Given the description of an element on the screen output the (x, y) to click on. 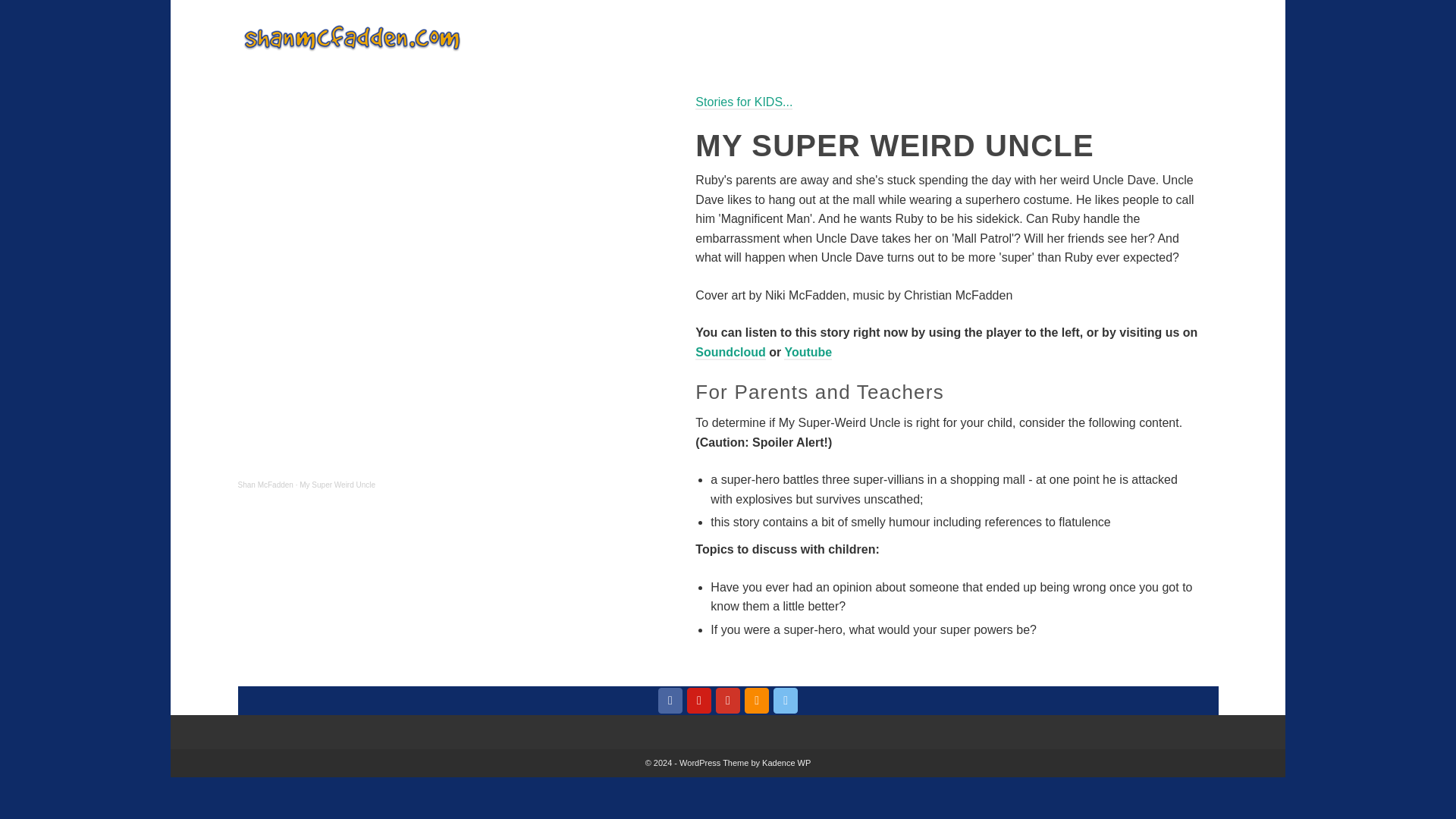
My Super Weird Uncle (337, 484)
Stories for KIDS... (743, 102)
 on Pinterest (699, 700)
CONTACT (1155, 37)
 on Facebook (670, 700)
AUDIOBOOKS (790, 37)
 on Youtube (727, 700)
Kadence WP (785, 762)
PODCASTS (934, 37)
Shan McFadden (266, 484)
Soundcloud (730, 352)
My Super Weird Uncle (337, 484)
 on X Twitter (785, 700)
Youtube (807, 352)
ABOUT THE AUTHOR (1046, 37)
